Given the description of an element on the screen output the (x, y) to click on. 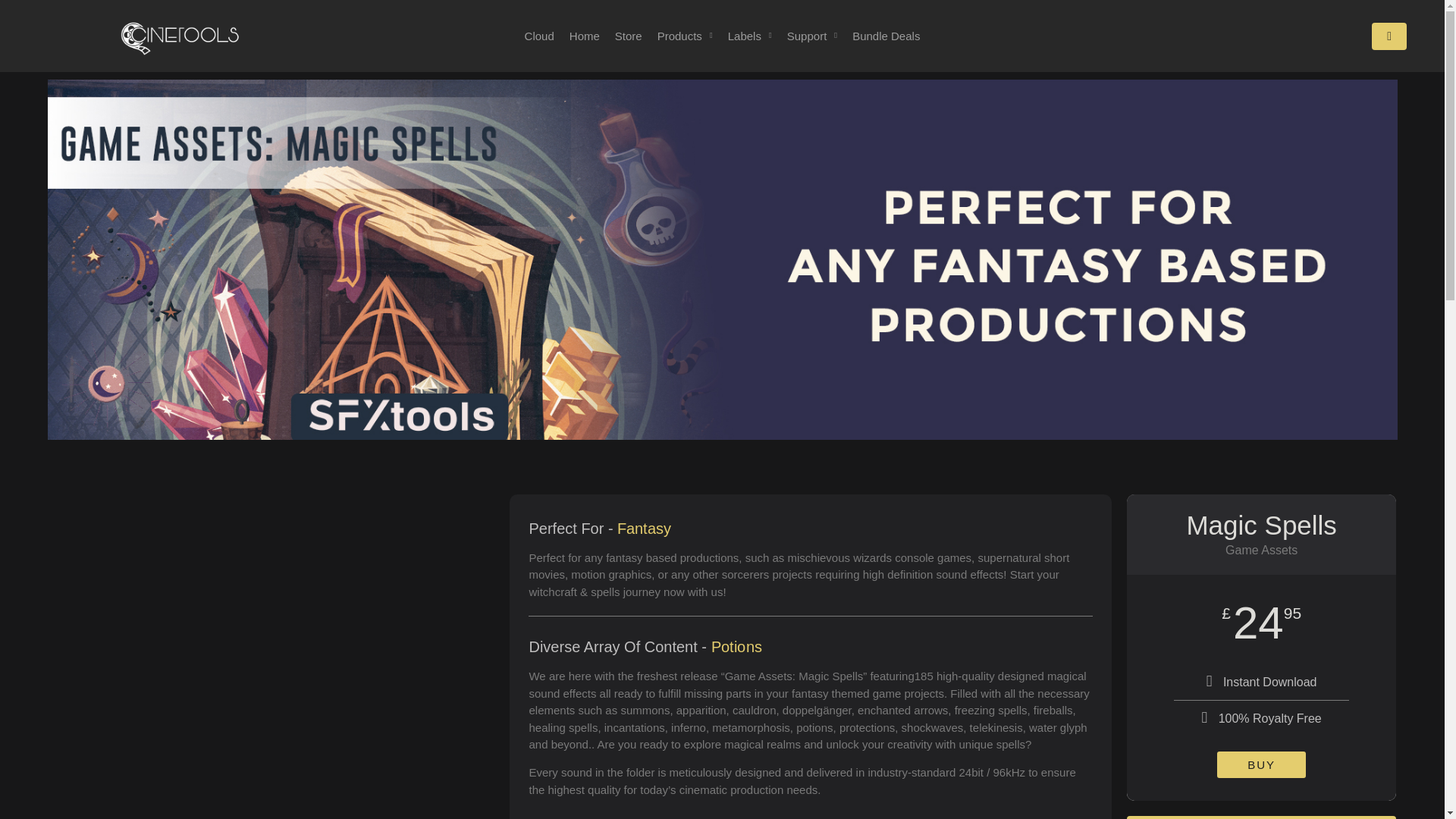
Support (812, 36)
Bundle Deals (885, 36)
Products (685, 36)
